Given the description of an element on the screen output the (x, y) to click on. 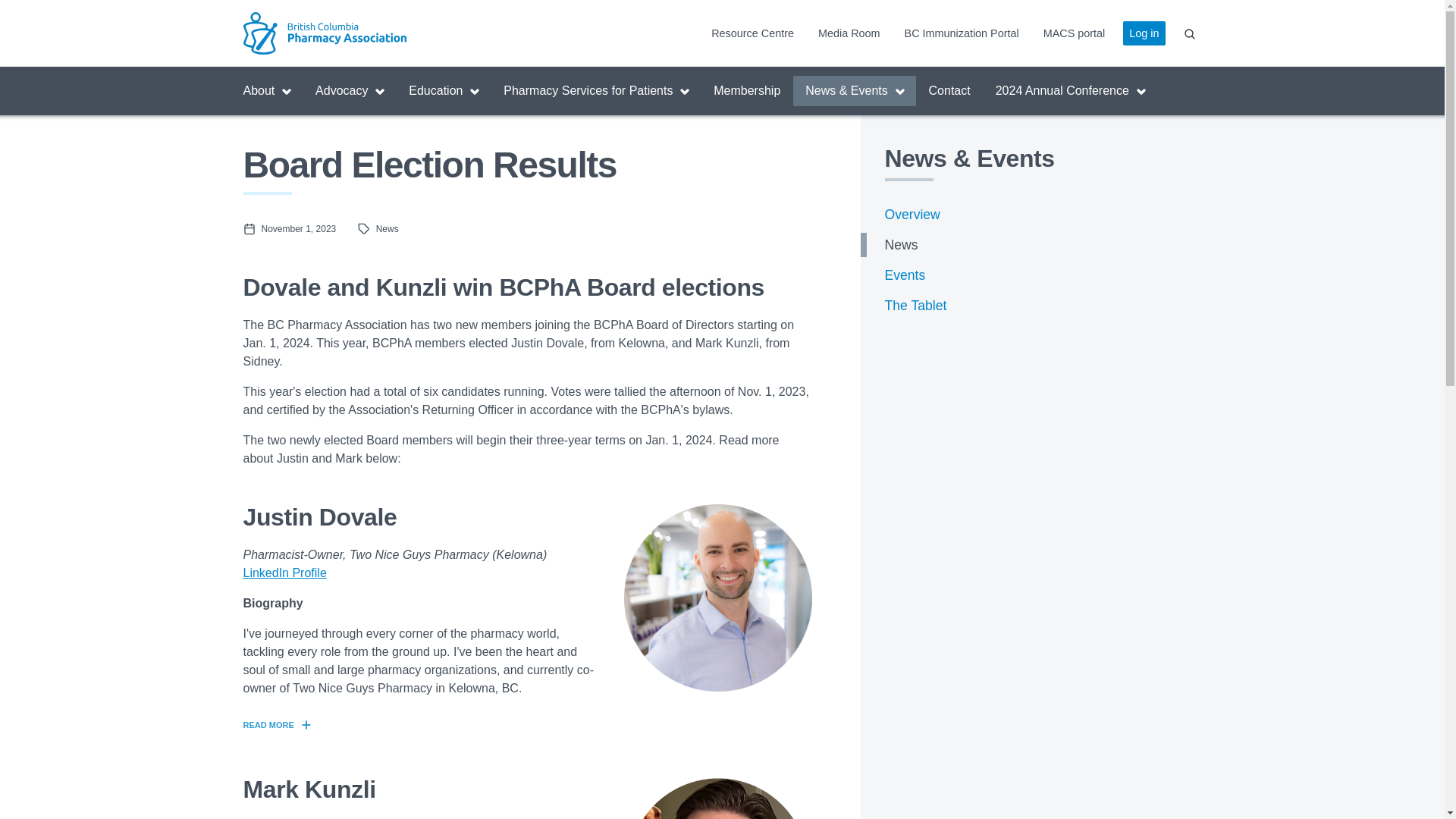
Membership (746, 91)
Pharmacy Services for Patients (596, 91)
2024 Annual Conference (1070, 91)
Media releases and media contacts (849, 33)
Resources for pharmacies login required (961, 33)
Home (362, 33)
About (266, 91)
Access to medSask minor ailments guidelines (1074, 33)
Advocacy (349, 91)
Contact (949, 91)
Education (443, 91)
